Given the description of an element on the screen output the (x, y) to click on. 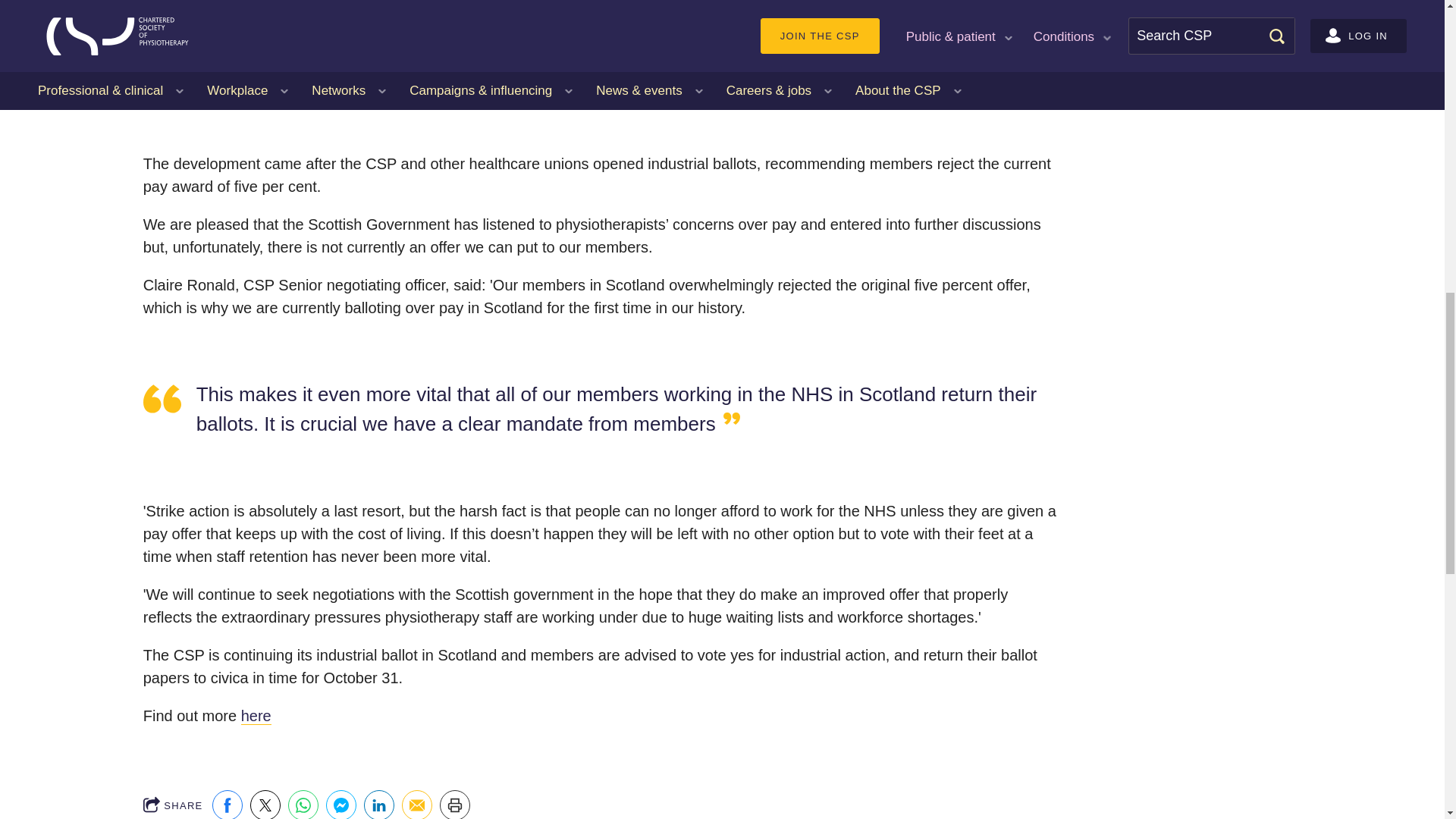
Facebook messenger (341, 804)
Email (416, 804)
WhatsApp (303, 804)
Linkedin (379, 804)
Facebook (227, 804)
